Given the description of an element on the screen output the (x, y) to click on. 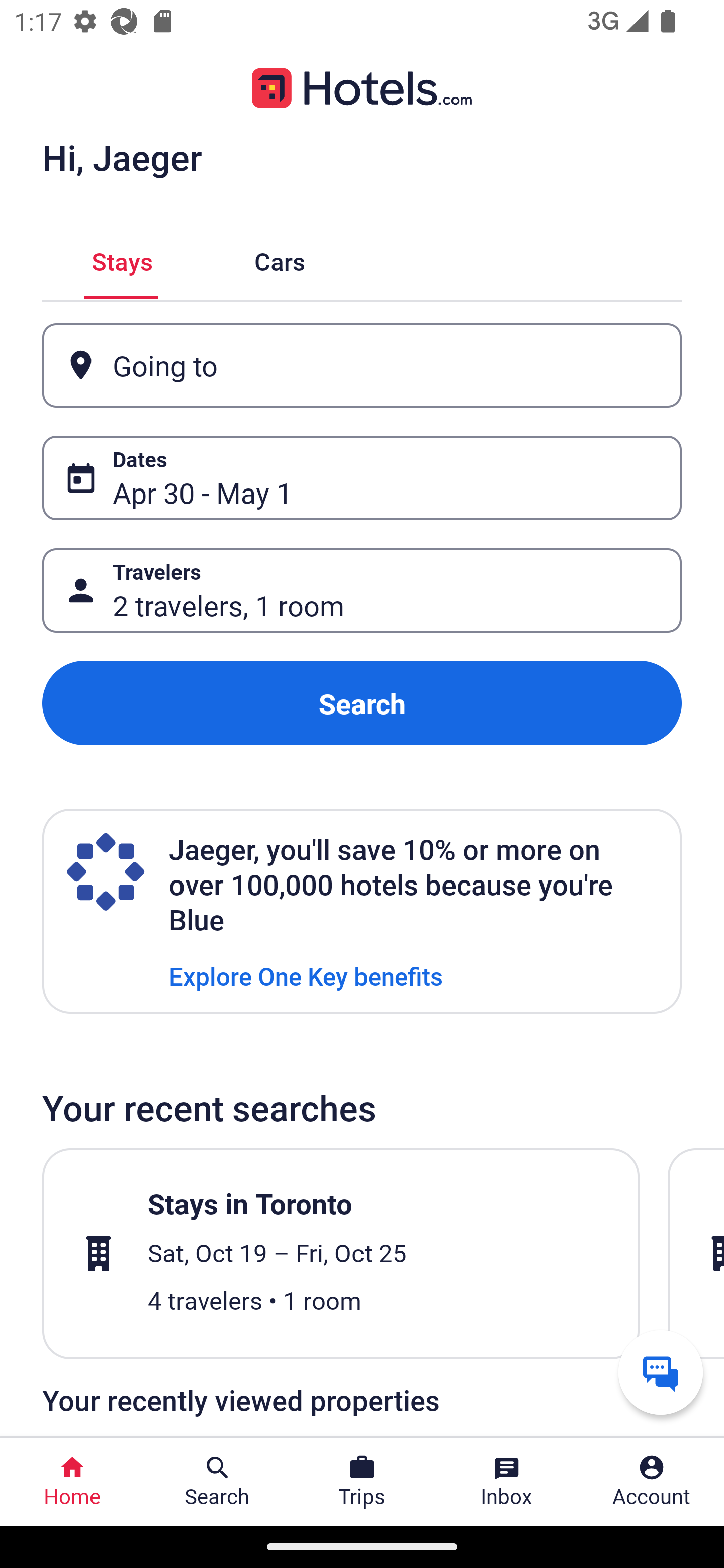
Hi, Jaeger (121, 156)
Cars (279, 259)
Going to Button (361, 365)
Dates Button Apr 30 - May 1 (361, 477)
Travelers Button 2 travelers, 1 room (361, 590)
Search (361, 702)
Get help from a virtual agent (660, 1371)
Search Search Button (216, 1481)
Trips Trips Button (361, 1481)
Inbox Inbox Button (506, 1481)
Account Profile. Button (651, 1481)
